Given the description of an element on the screen output the (x, y) to click on. 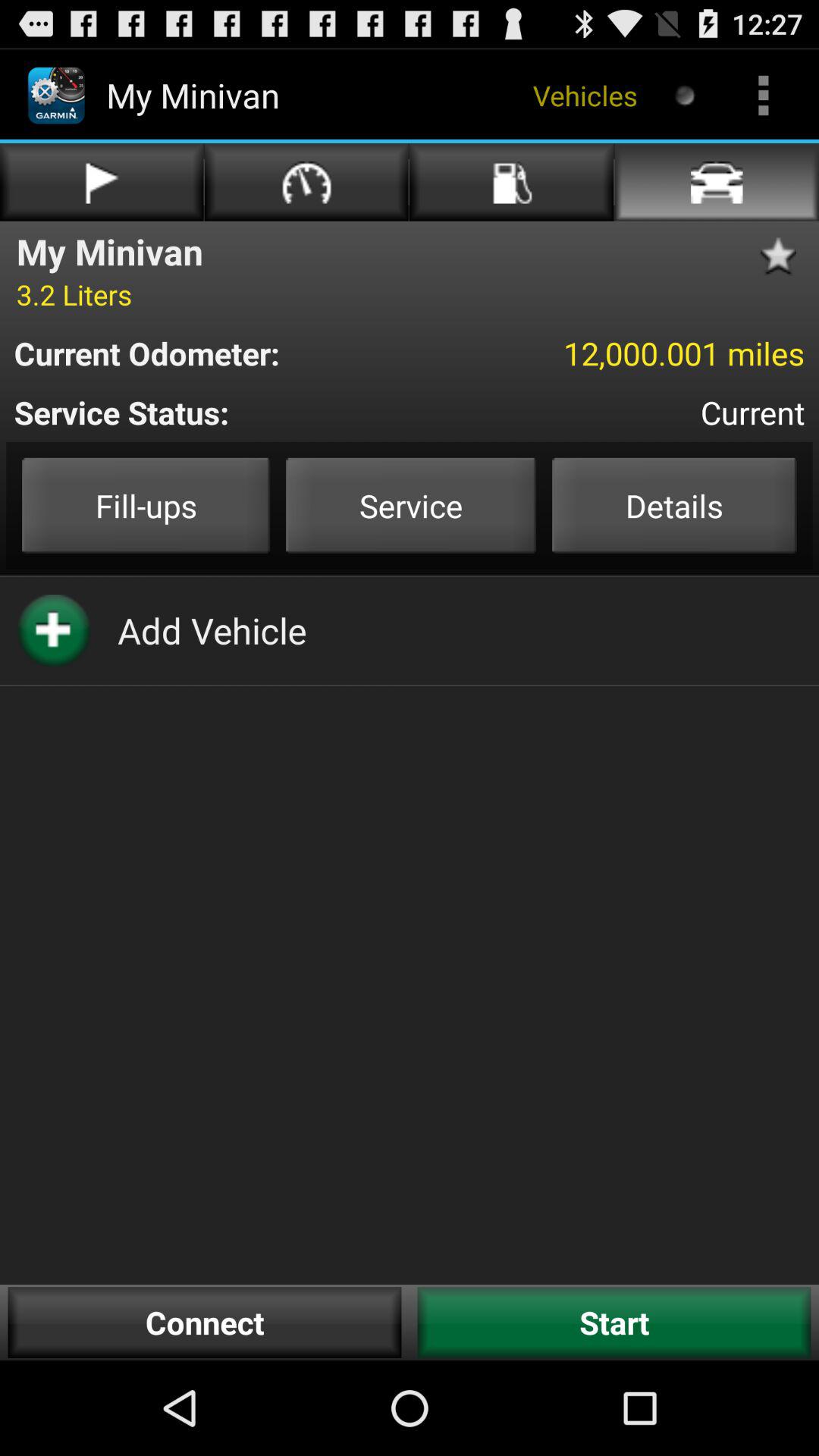
choose details item (674, 505)
